Given the description of an element on the screen output the (x, y) to click on. 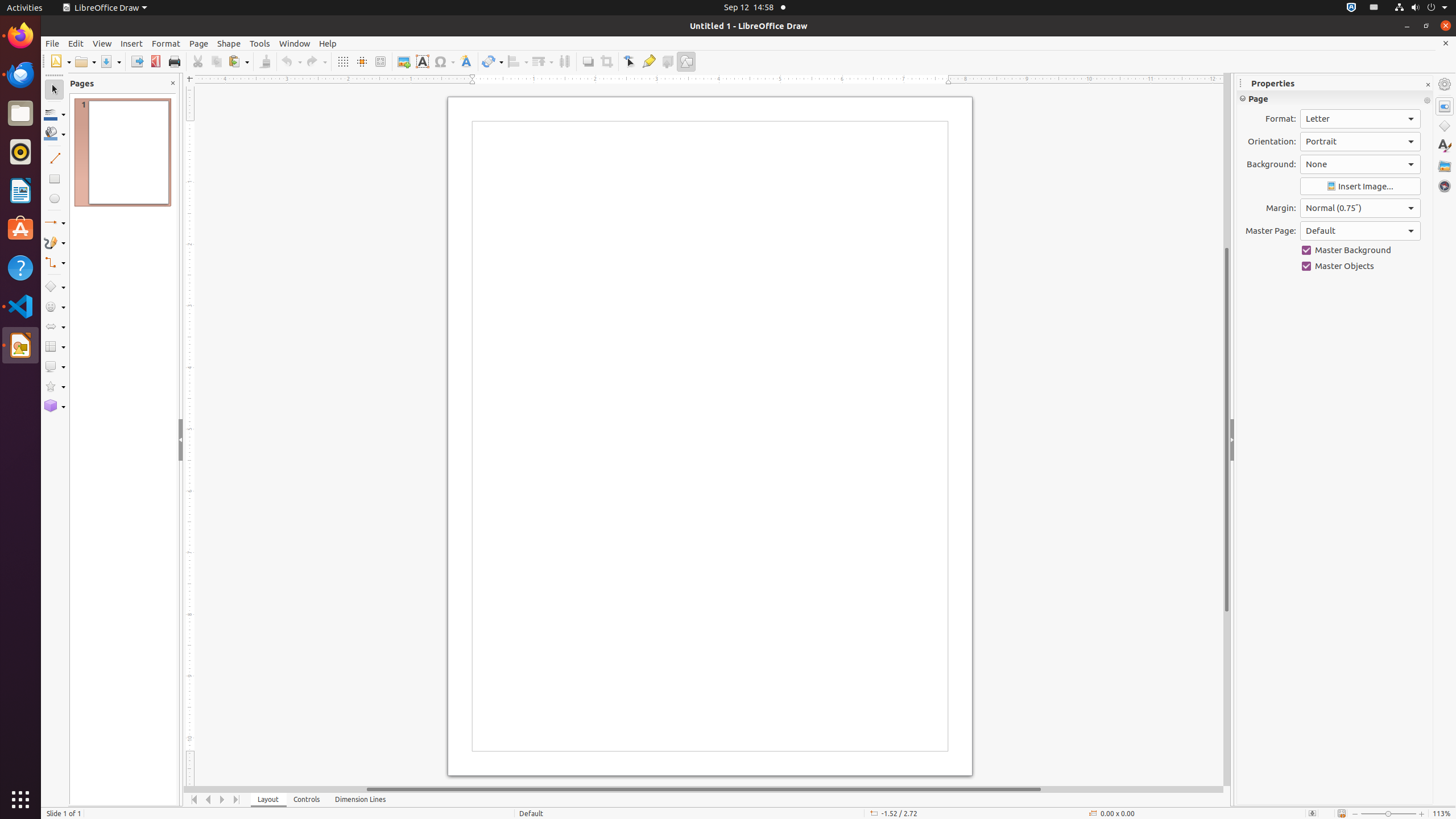
Curves and Polygons Element type: push-button (54, 242)
Vertical scroll bar Element type: scroll-bar (1226, 429)
3D Objects Element type: push-button (54, 406)
Horizontal scroll bar Element type: scroll-bar (703, 789)
